Given the description of an element on the screen output the (x, y) to click on. 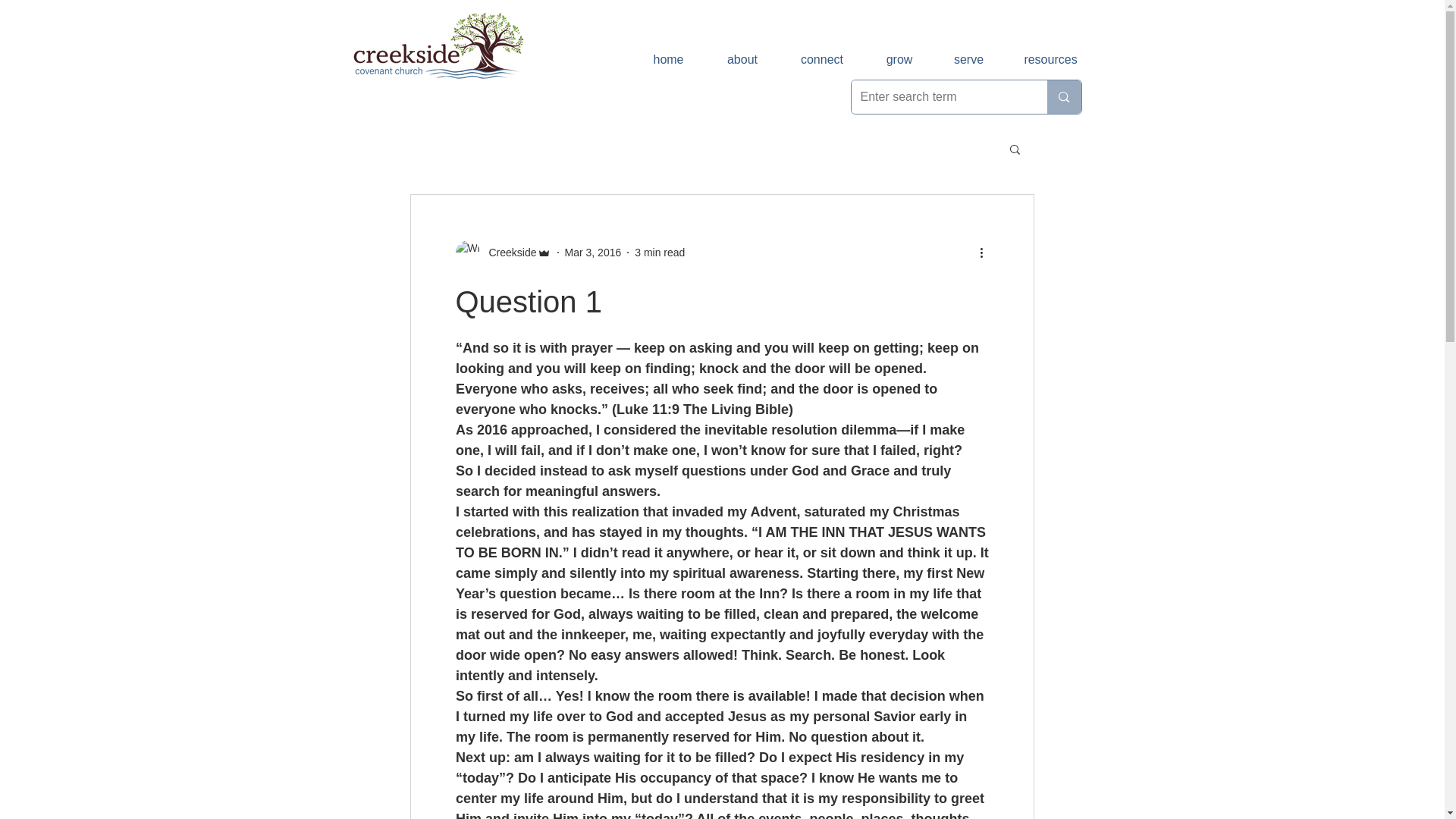
Creekside (502, 252)
home (667, 59)
connect (821, 59)
3 min read (659, 251)
about (741, 59)
serve (969, 59)
grow (898, 59)
Creekside (507, 252)
Mar 3, 2016 (592, 251)
resources (1050, 59)
